Given the description of an element on the screen output the (x, y) to click on. 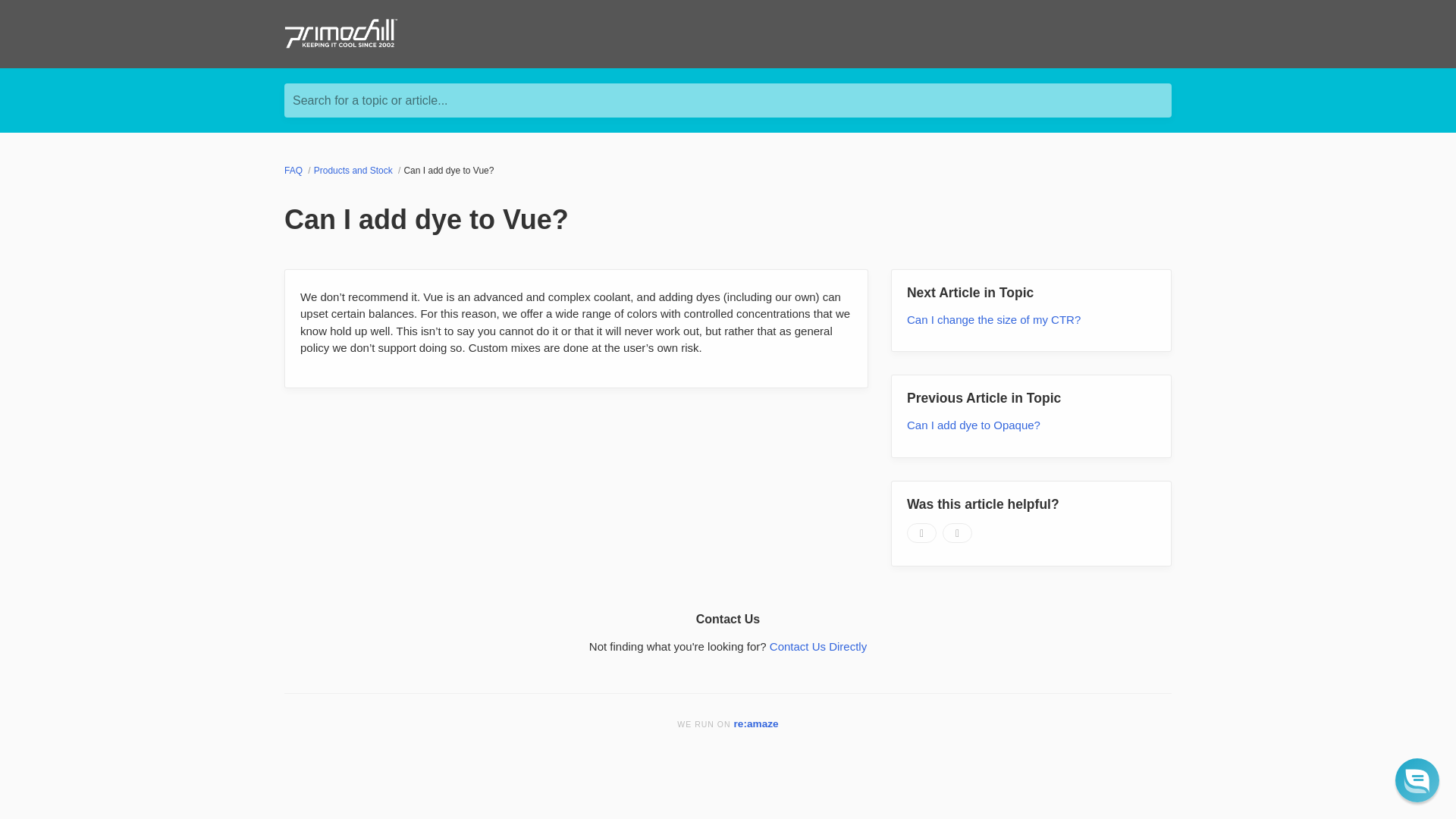
Can I change the size of my CTR? (993, 318)
FAQ (293, 170)
Contact Us Directly (818, 645)
Products and Stock (354, 170)
Can I add dye to Opaque? (974, 424)
re:amaze (755, 723)
